Given the description of an element on the screen output the (x, y) to click on. 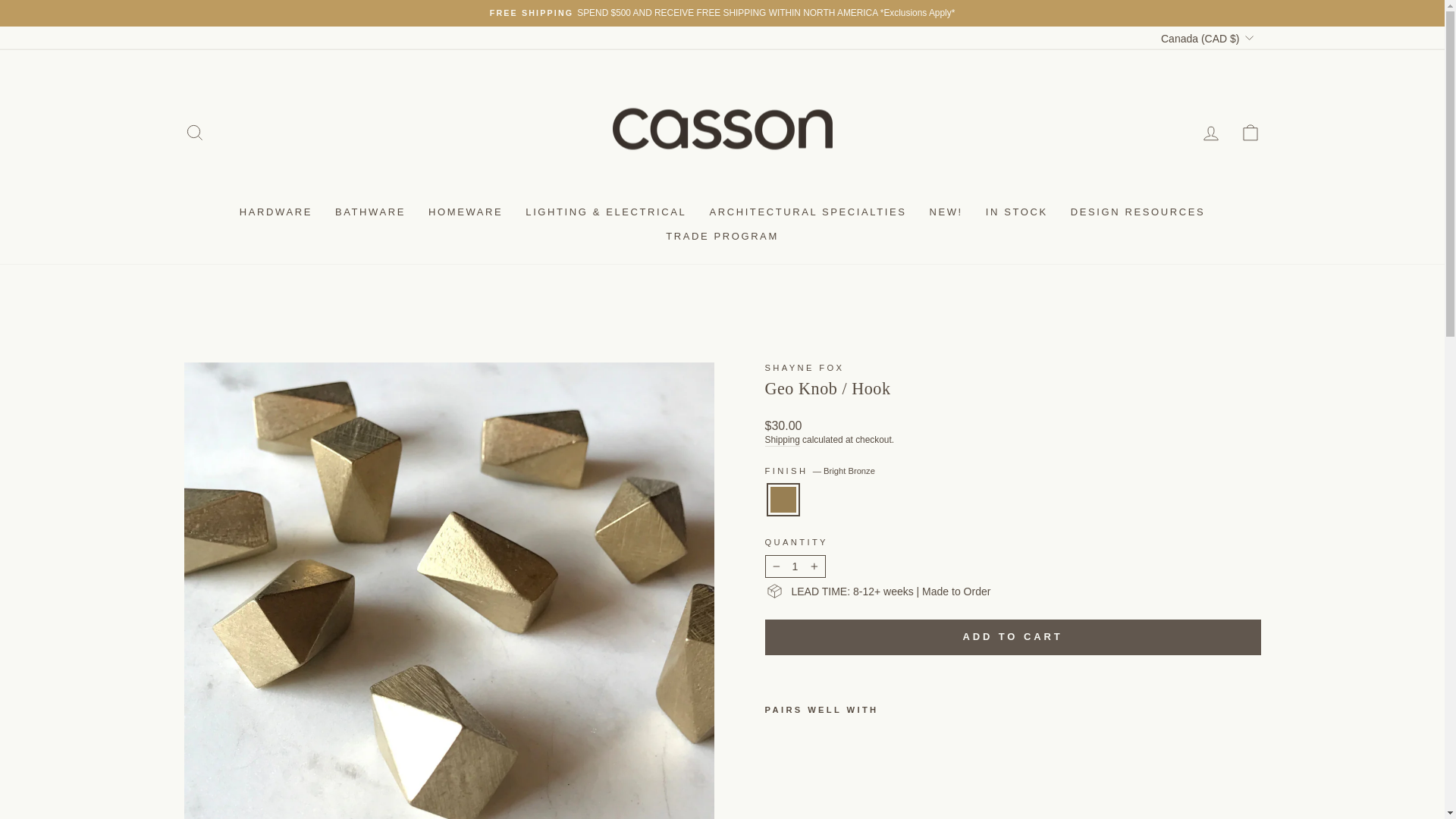
ACCOUNT (1210, 133)
1 (794, 566)
Shayne Fox (804, 367)
ICON-BAG-MINIMAL (1249, 132)
ICON-SEARCH (194, 132)
